Given the description of an element on the screen output the (x, y) to click on. 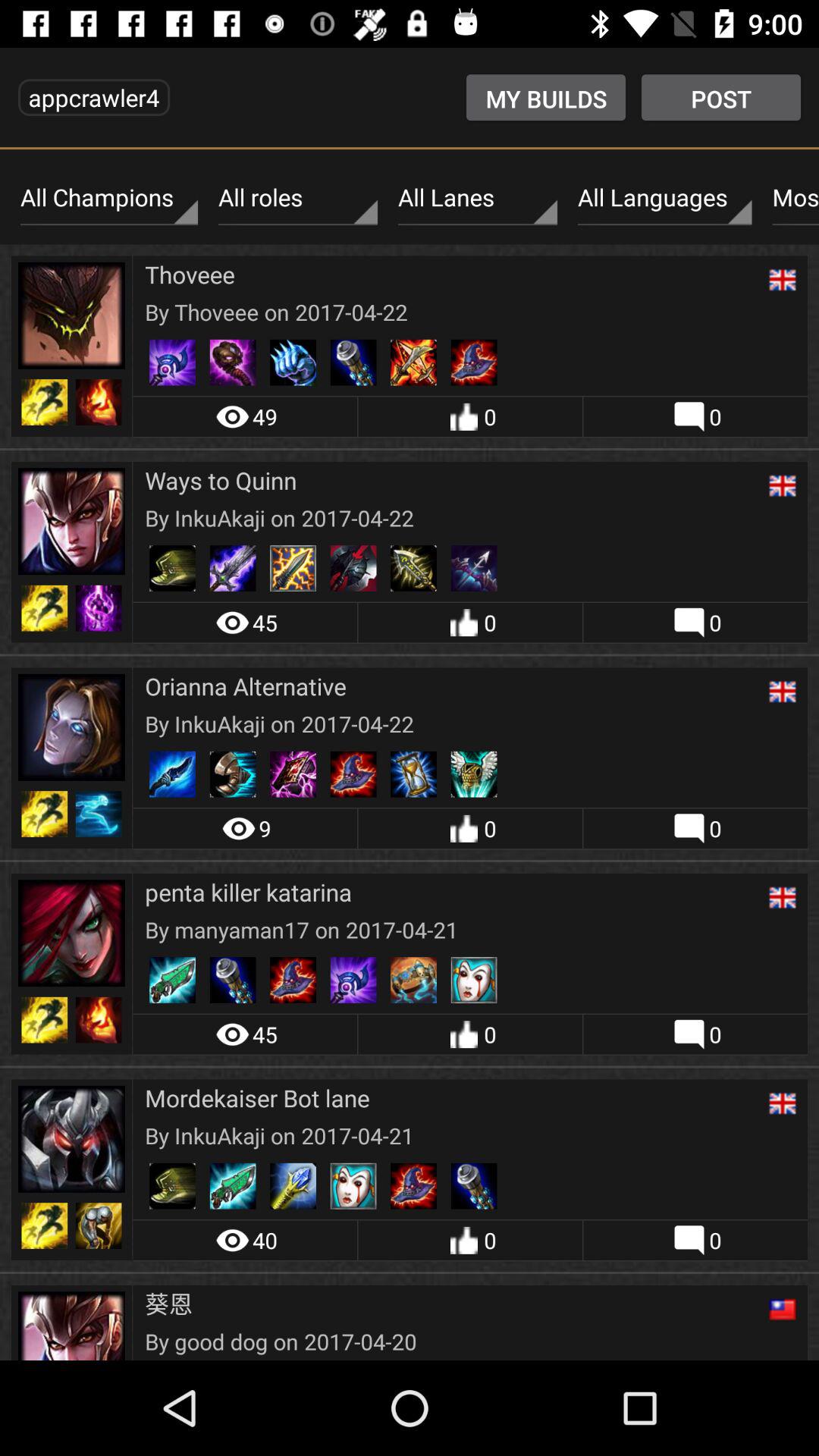
turn off icon to the right of the all languages (791, 198)
